Given the description of an element on the screen output the (x, y) to click on. 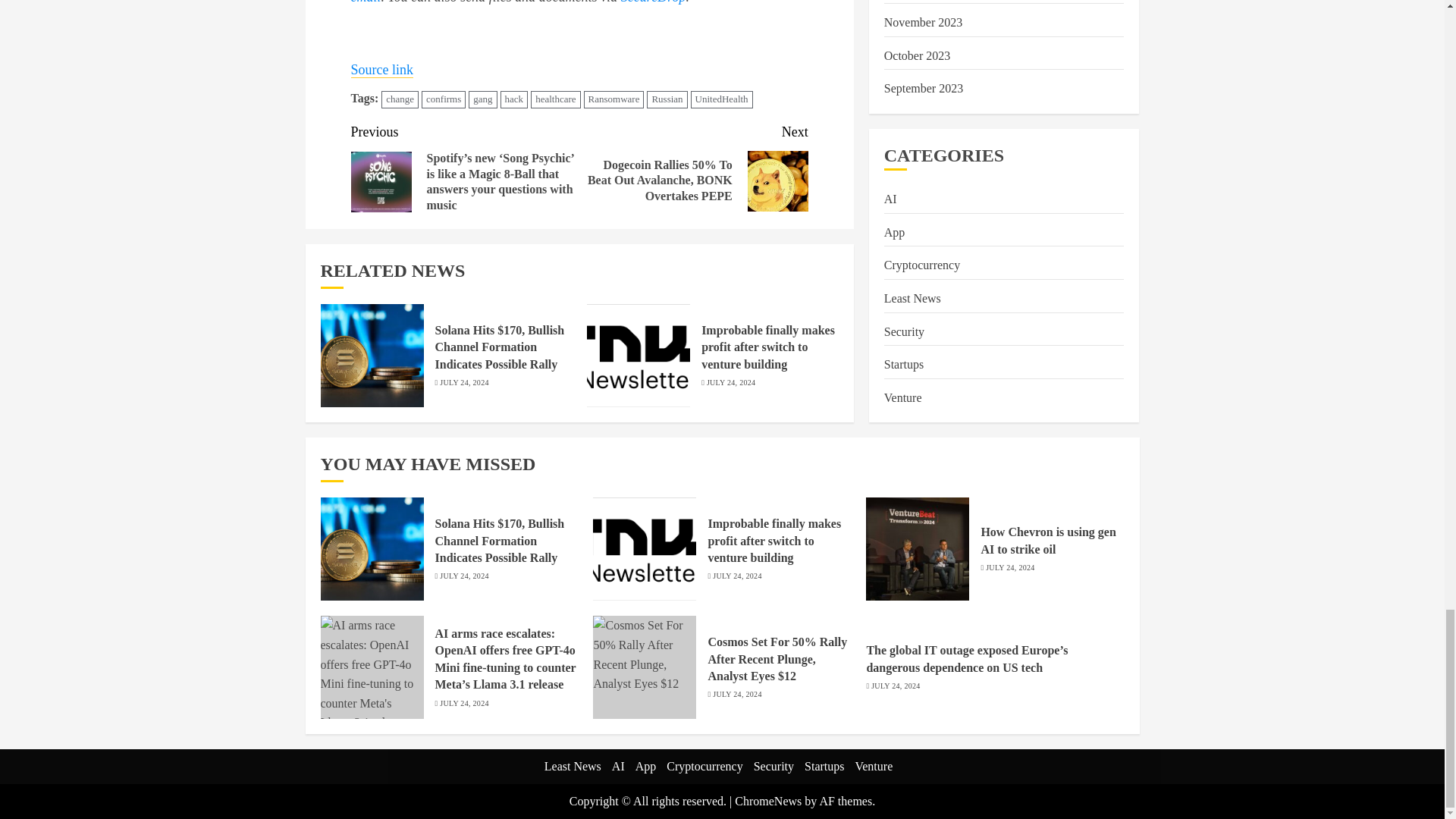
Russian (666, 99)
confirms (443, 99)
hack (514, 99)
SecureDrop (653, 2)
Source link (381, 69)
Ransomware (614, 99)
healthcare (555, 99)
gang (482, 99)
change (400, 99)
UnitedHealth (721, 99)
